Given the description of an element on the screen output the (x, y) to click on. 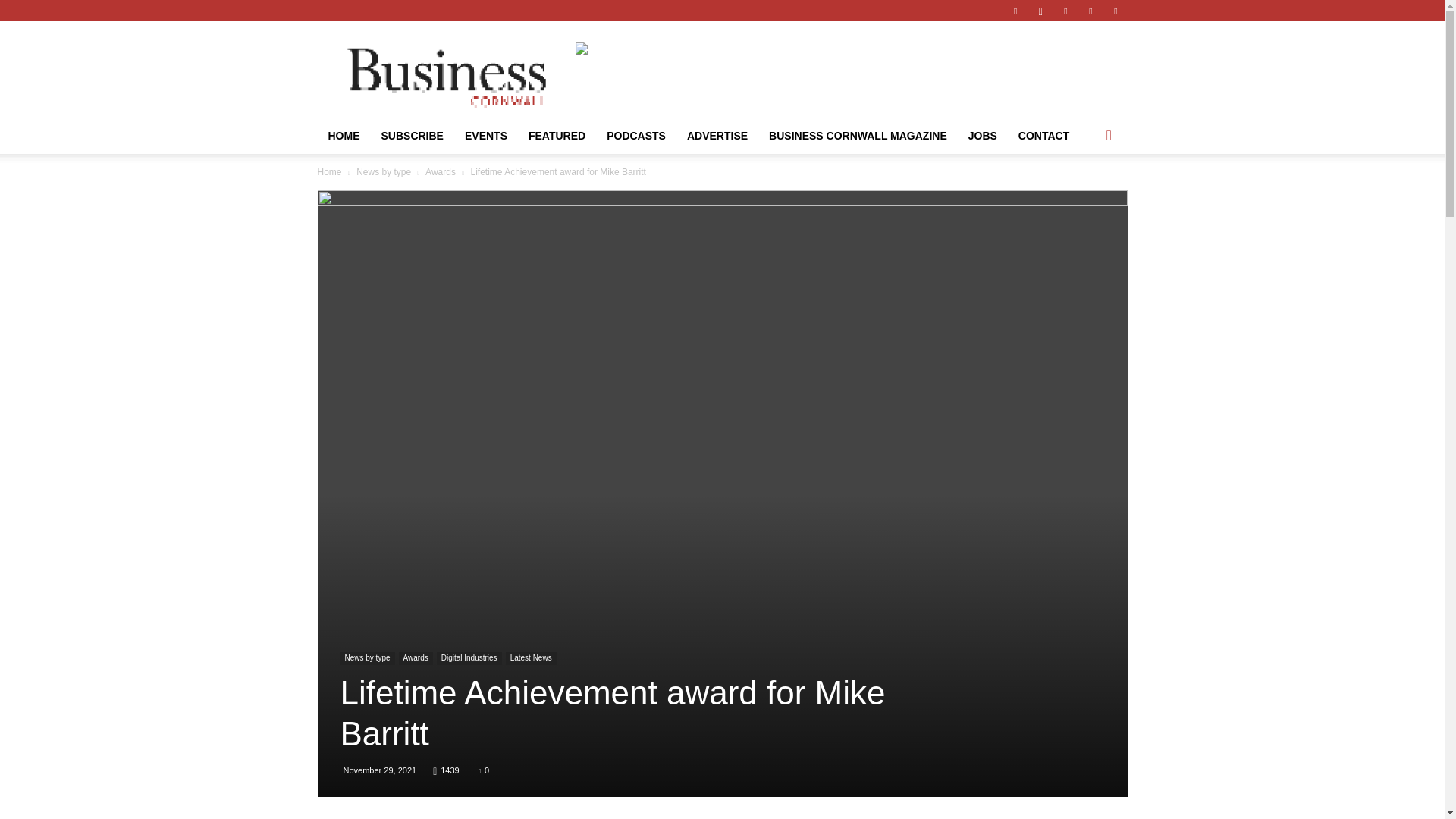
FEATURED (556, 135)
HOME (343, 135)
Youtube (1114, 10)
ADVERTISE (717, 135)
BUSINESS CORNWALL MAGAZINE (858, 135)
View all posts in News by type (383, 172)
JOBS (982, 135)
Instagram (1040, 10)
Linkedin (1065, 10)
Twitter (1090, 10)
